Given the description of an element on the screen output the (x, y) to click on. 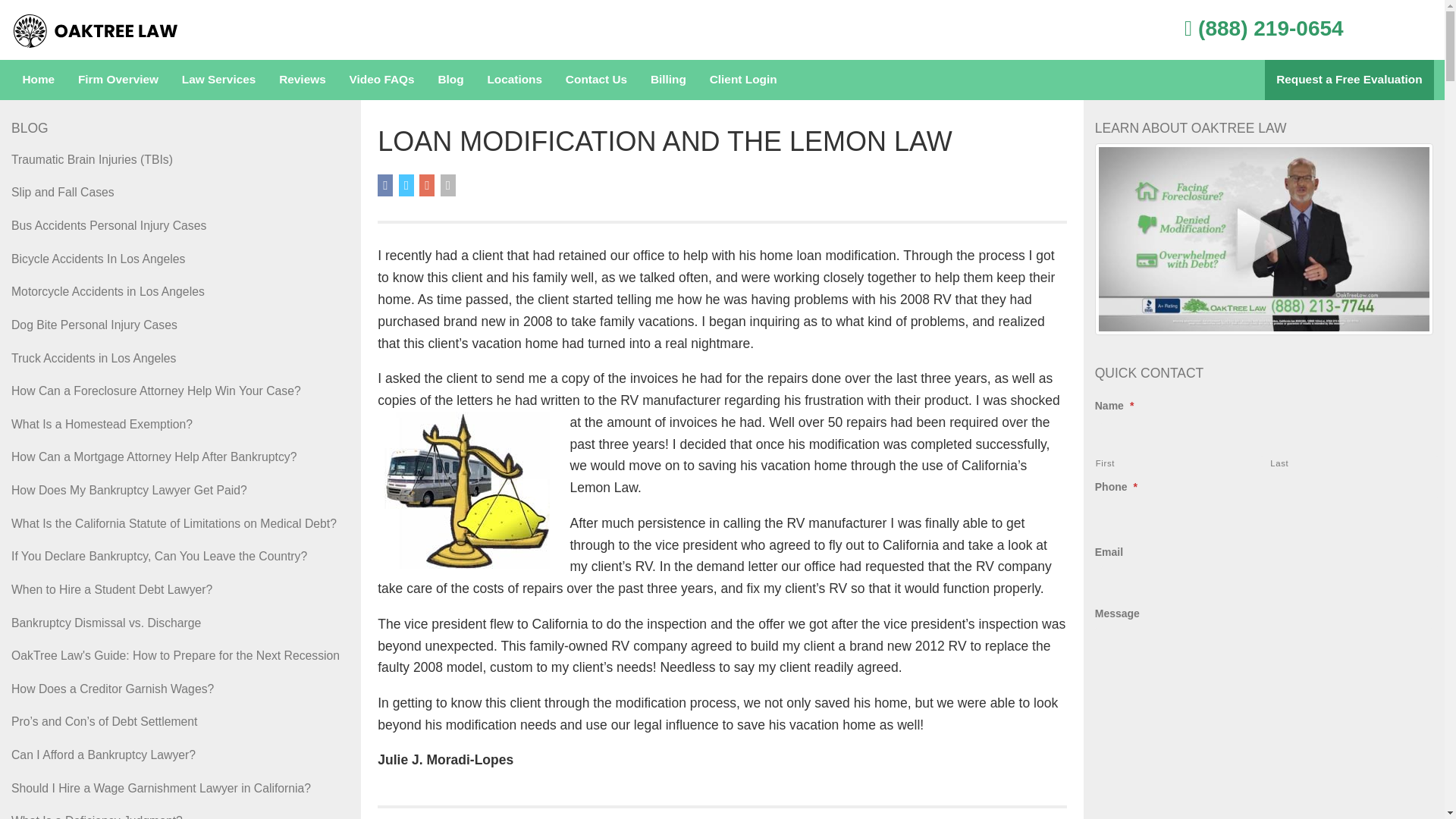
Law Services (218, 79)
Blog (451, 79)
Firm Overview (118, 79)
Home (38, 79)
Free Evaluation (1349, 79)
Video FAQs (381, 79)
Locations (514, 79)
lemon law (463, 489)
Reviews (302, 79)
